Given the description of an element on the screen output the (x, y) to click on. 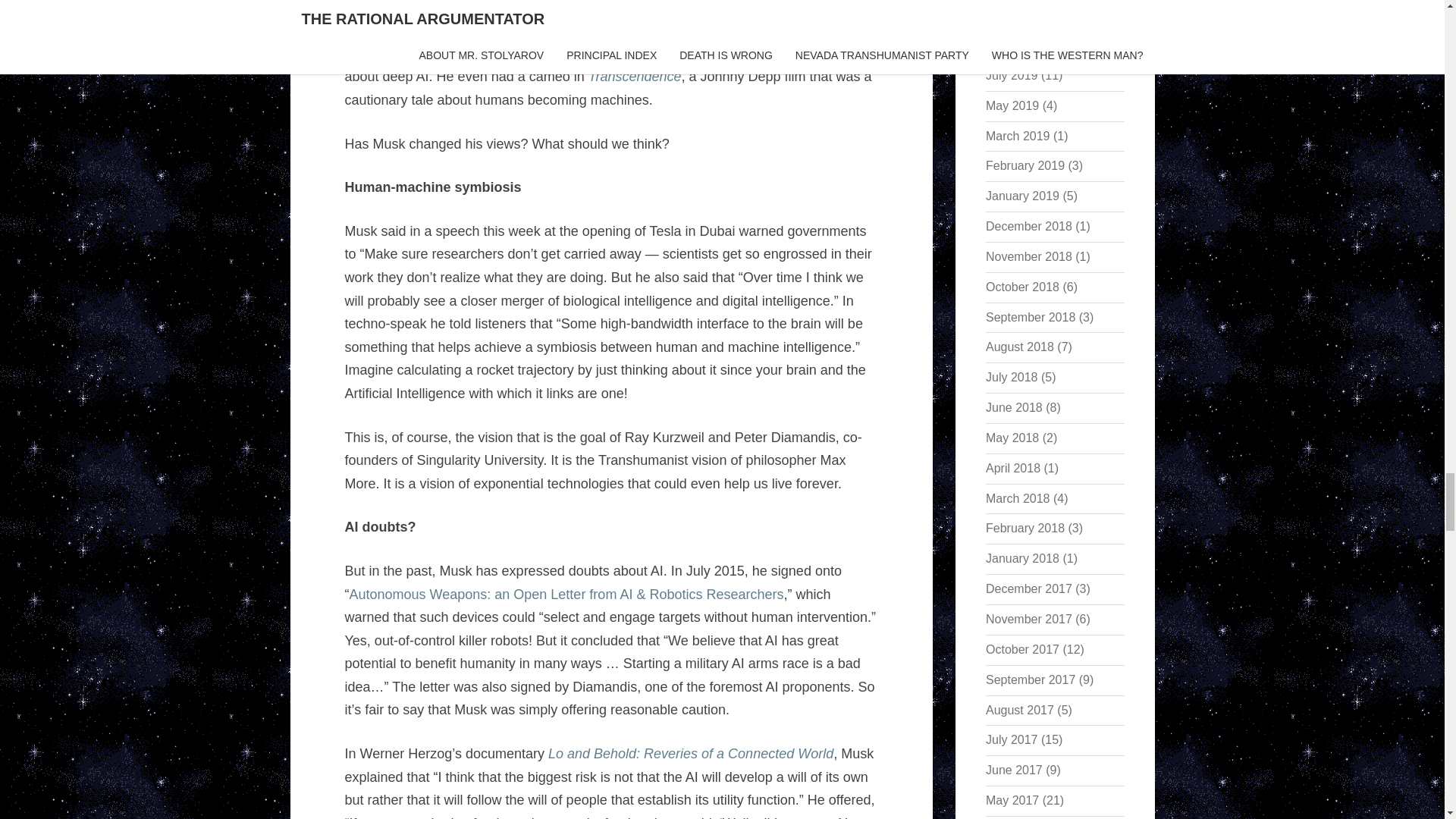
Lo and Behold: Reveries of a Connected World (690, 753)
Transcendence (634, 76)
